Given the description of an element on the screen output the (x, y) to click on. 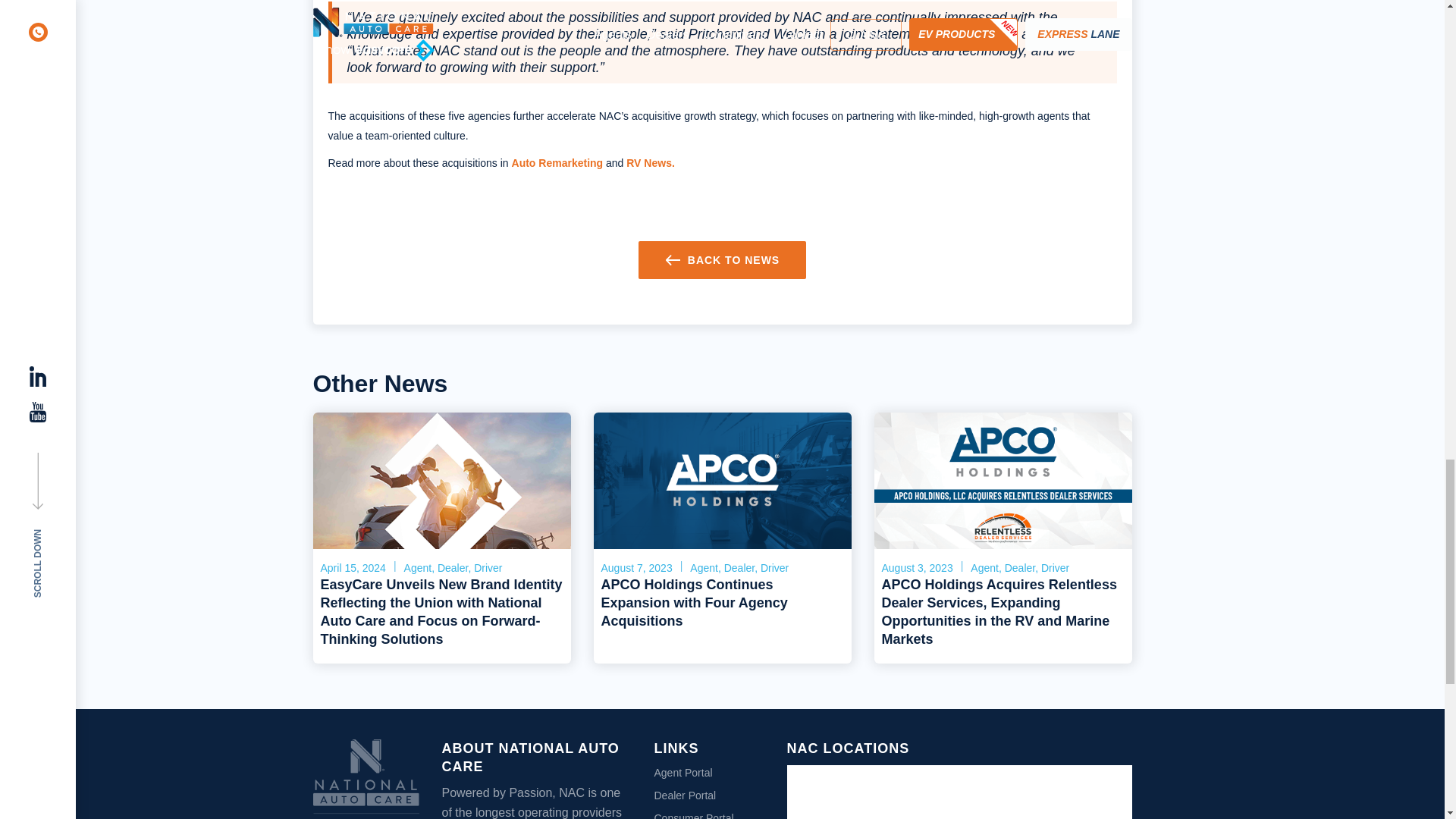
RV News. (650, 162)
Dealer Portal (684, 795)
Auto Remarketing (558, 162)
Agent Portal (682, 772)
BACK TO NEWS (722, 259)
Consumer Portal (693, 815)
